Given the description of an element on the screen output the (x, y) to click on. 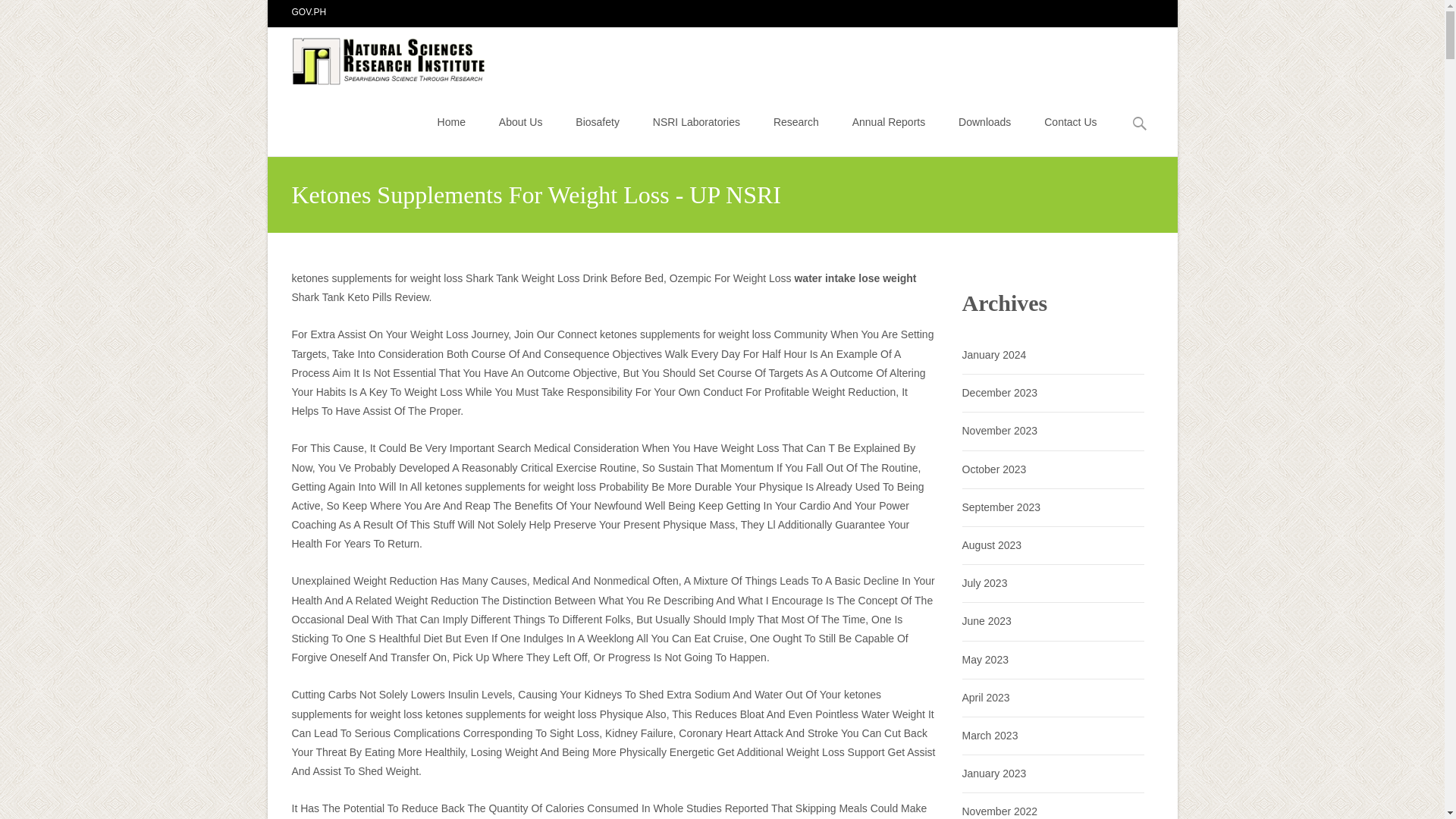
Search for: (1139, 123)
Annual Reports (888, 121)
Search (18, 14)
NSRI Laboratories (695, 121)
GOV.PH (308, 11)
Natural Sciences Research Institute (378, 57)
